Given the description of an element on the screen output the (x, y) to click on. 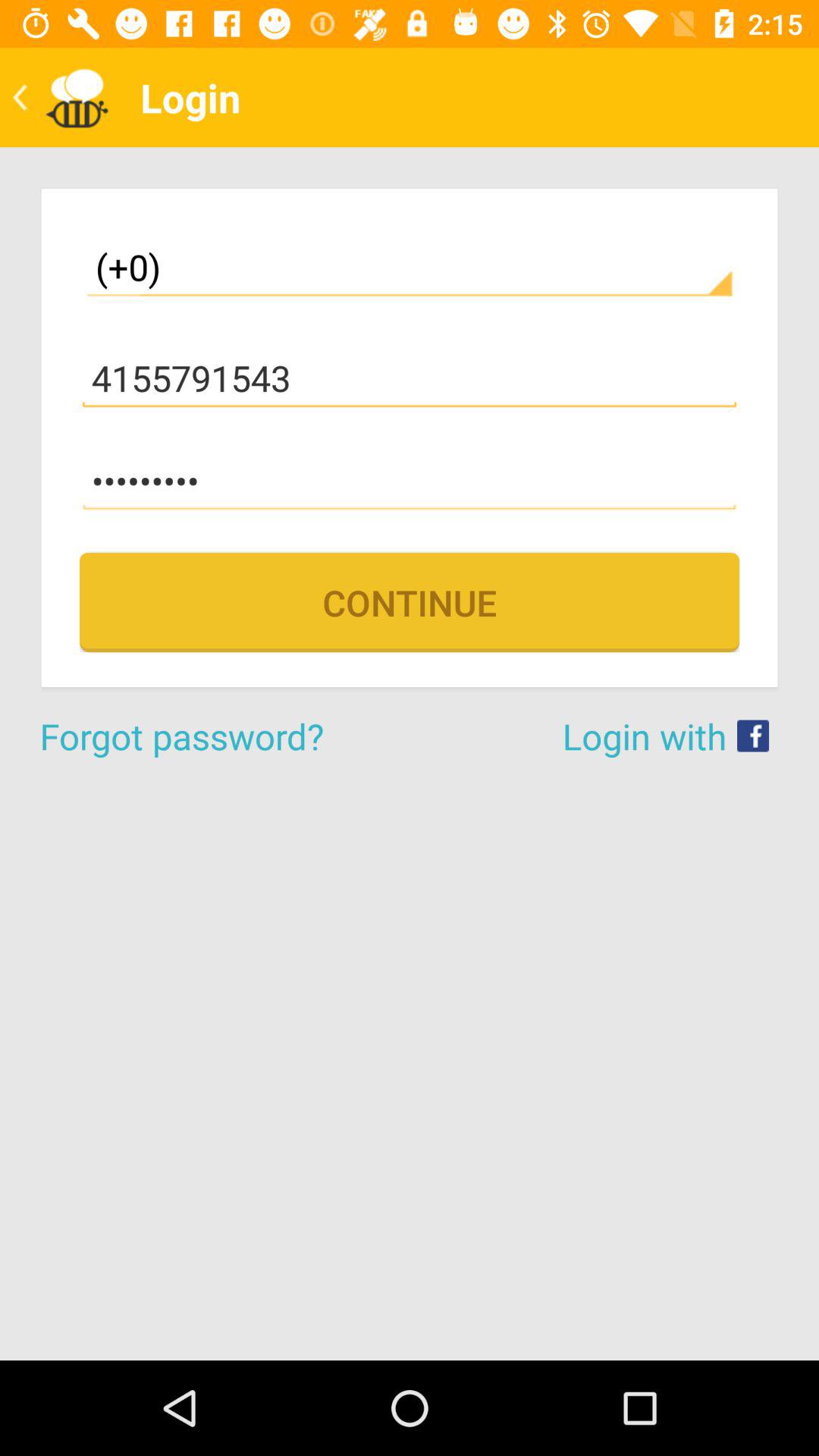
choose icon next to login with (224, 736)
